Given the description of an element on the screen output the (x, y) to click on. 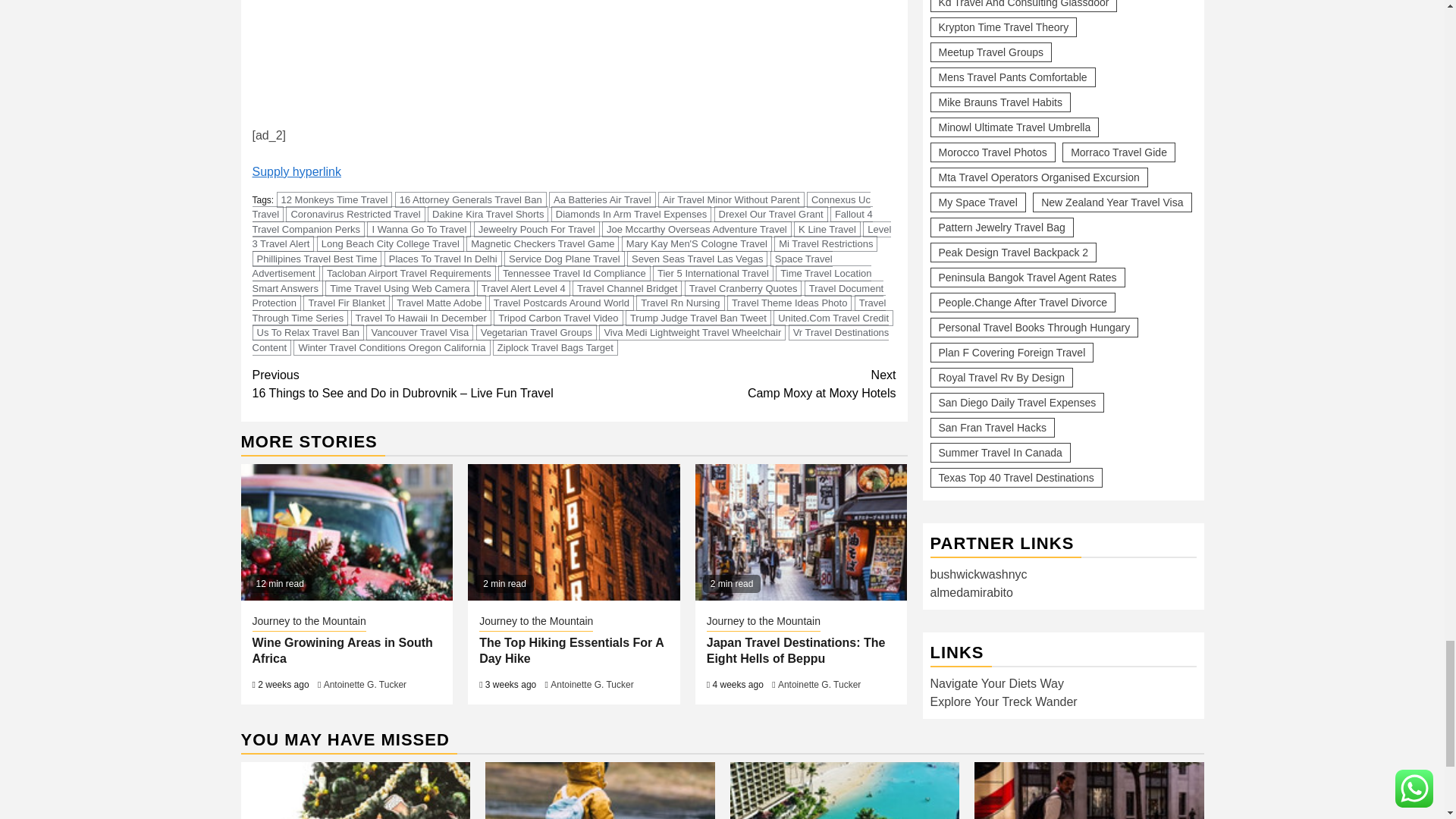
You Will Wish You Were a Poet on Your Mauritius Holidays (844, 790)
Drexel Our Travel Grant (771, 213)
Fallout 4 Travel Companion Perks (561, 221)
Jeweelry Pouch For Travel (536, 229)
Air Travel Minor Without Parent (731, 199)
16 Attorney Generals Travel Ban (470, 199)
Wine Growining Areas in South Africa (346, 532)
Dakine Kira Travel Shorts (488, 213)
Aa Batteries Air Travel (602, 199)
The Top Hiking Essentials For A Day Hike (573, 532)
Japan Travel Destinations: The Eight Hells of Beppu (801, 532)
Coronavirus Restricted Travel (355, 213)
Supply hyperlink (295, 171)
Connexus Uc Travel (560, 206)
Winter And Summer Holidays (599, 790)
